Given the description of an element on the screen output the (x, y) to click on. 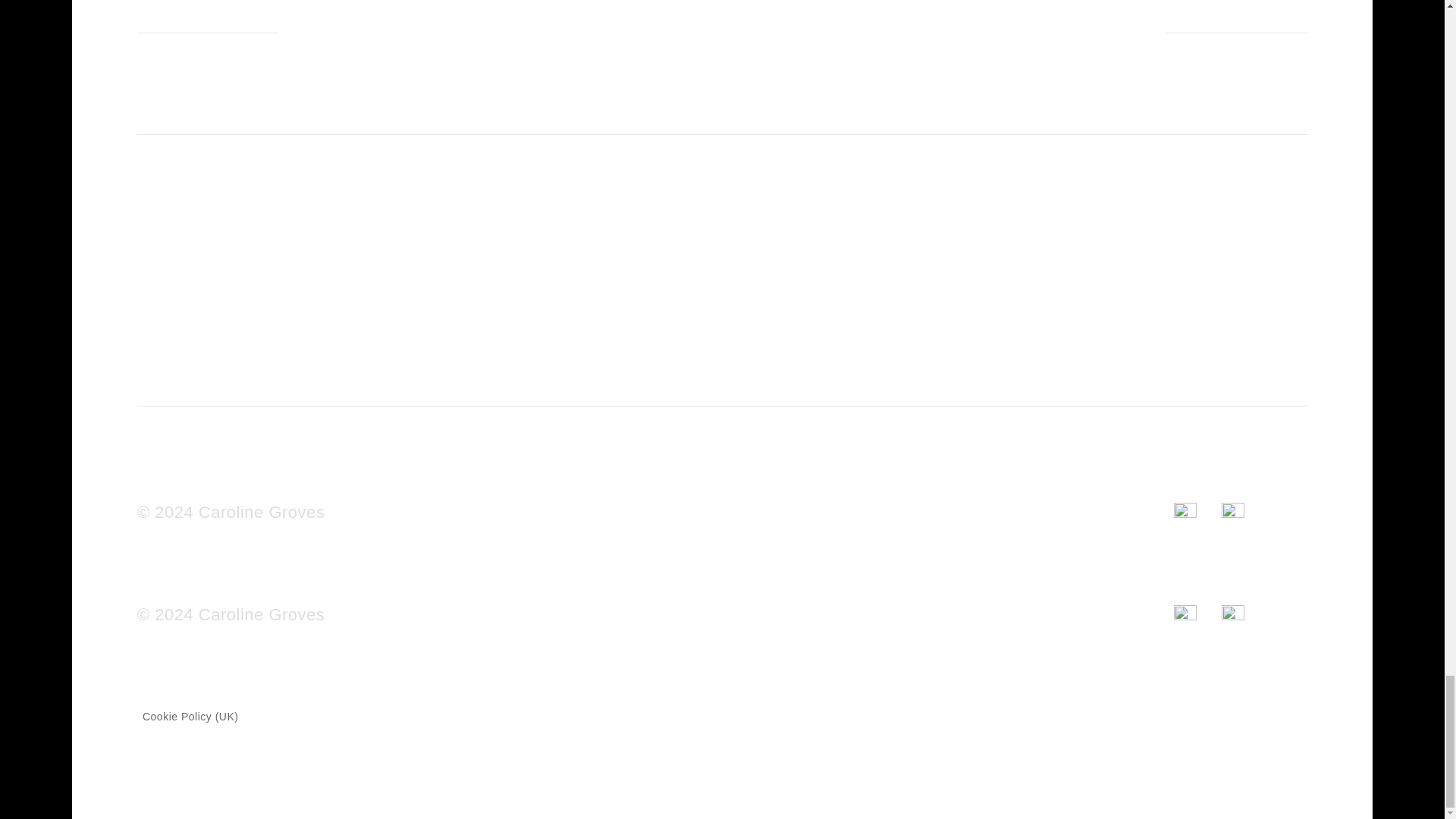
Instagram (1197, 614)
LinkedIn (1245, 614)
Instagram (1197, 511)
LinkedIn (1245, 511)
